Given the description of an element on the screen output the (x, y) to click on. 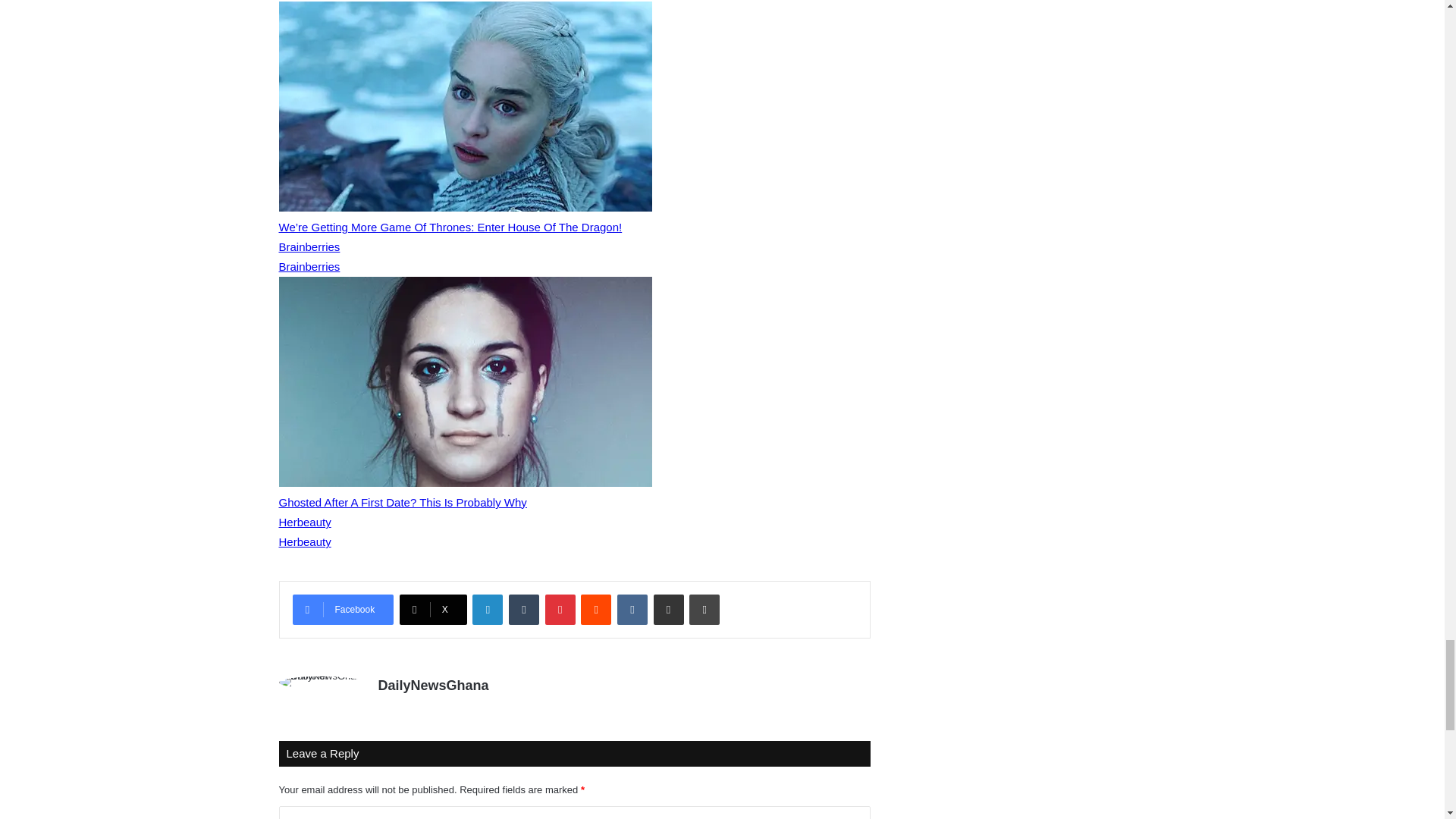
Share via Email (668, 609)
Tumblr (523, 609)
Share via Email (668, 609)
X (432, 609)
Pinterest (559, 609)
VKontakte (632, 609)
X (432, 609)
Pinterest (559, 609)
LinkedIn (486, 609)
Facebook (343, 609)
Facebook (343, 609)
Print (703, 609)
VKontakte (632, 609)
DailyNewsGhana (432, 685)
Reddit (595, 609)
